Given the description of an element on the screen output the (x, y) to click on. 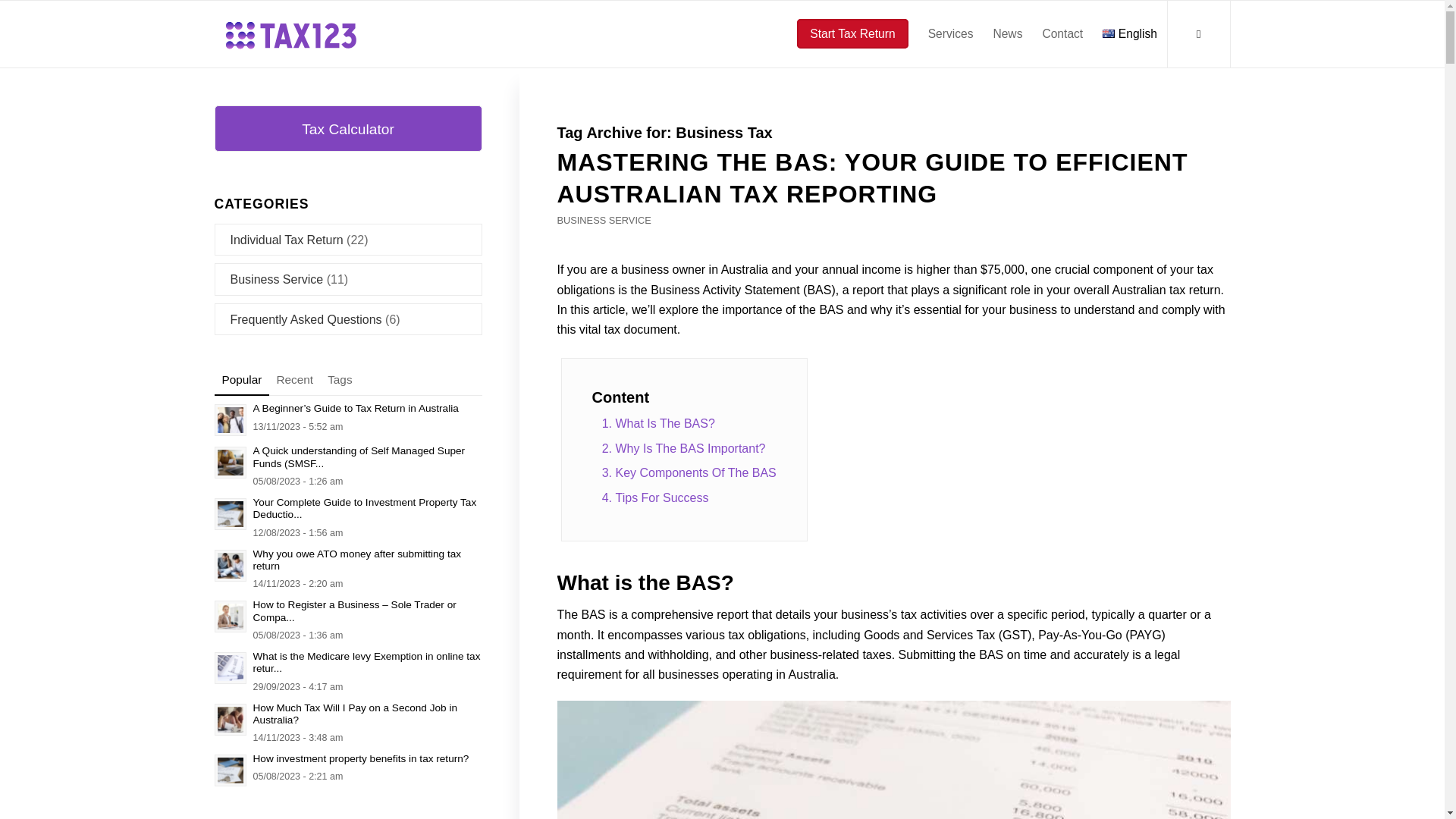
BUSINESS SERVICE (603, 220)
Services (951, 33)
Tips For Success (690, 497)
Start Tax Return (847, 33)
Key Components Of The BAS (690, 473)
What Is The BAS? (690, 423)
tax123 logo (290, 33)
Why Is The BAS Important? (690, 448)
Contact (1062, 33)
